Given the description of an element on the screen output the (x, y) to click on. 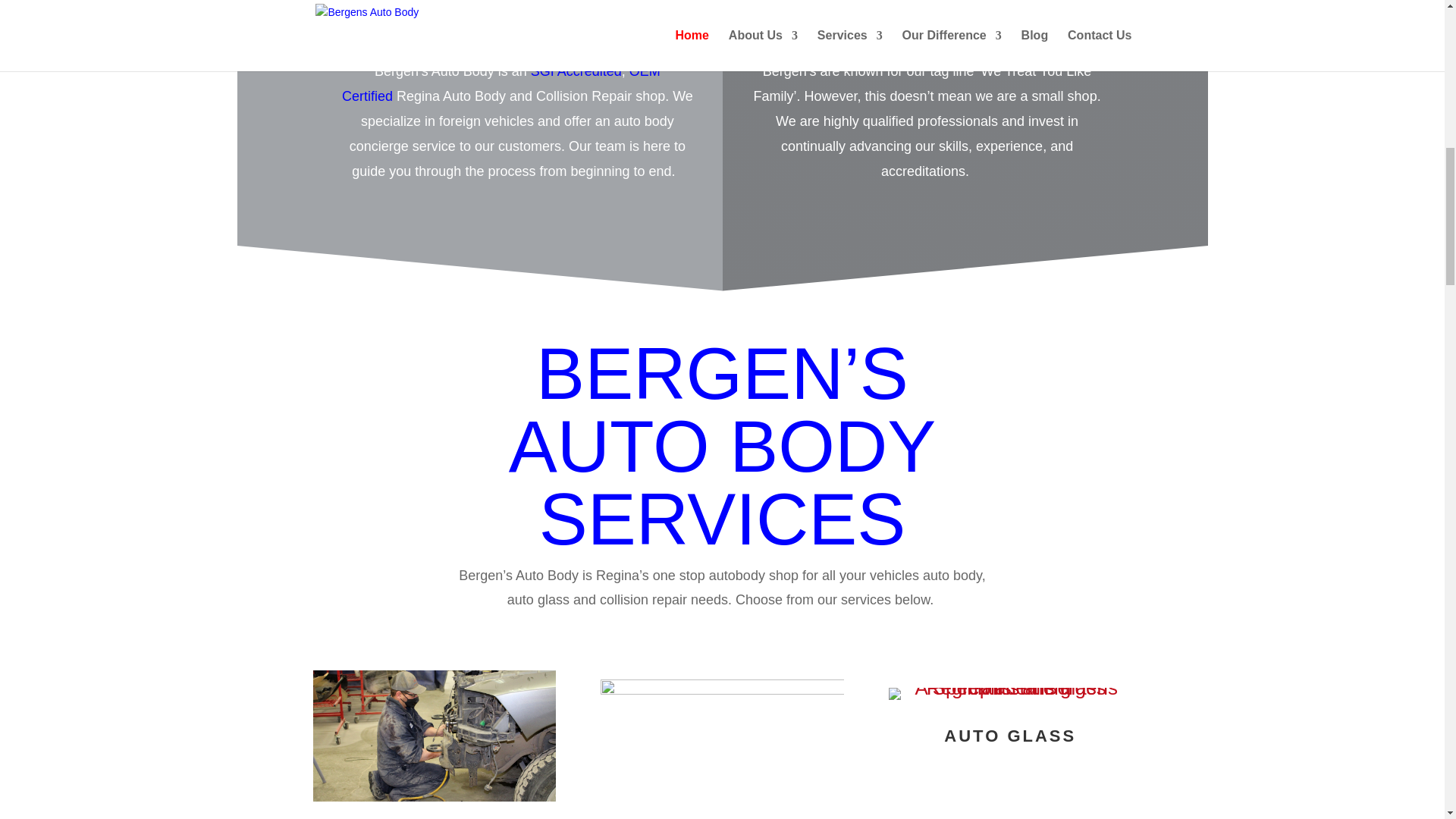
OEM Certified  (501, 83)
Bergen's is OEM Certified (501, 83)
SGI Accredited (576, 70)
